Given the description of an element on the screen output the (x, y) to click on. 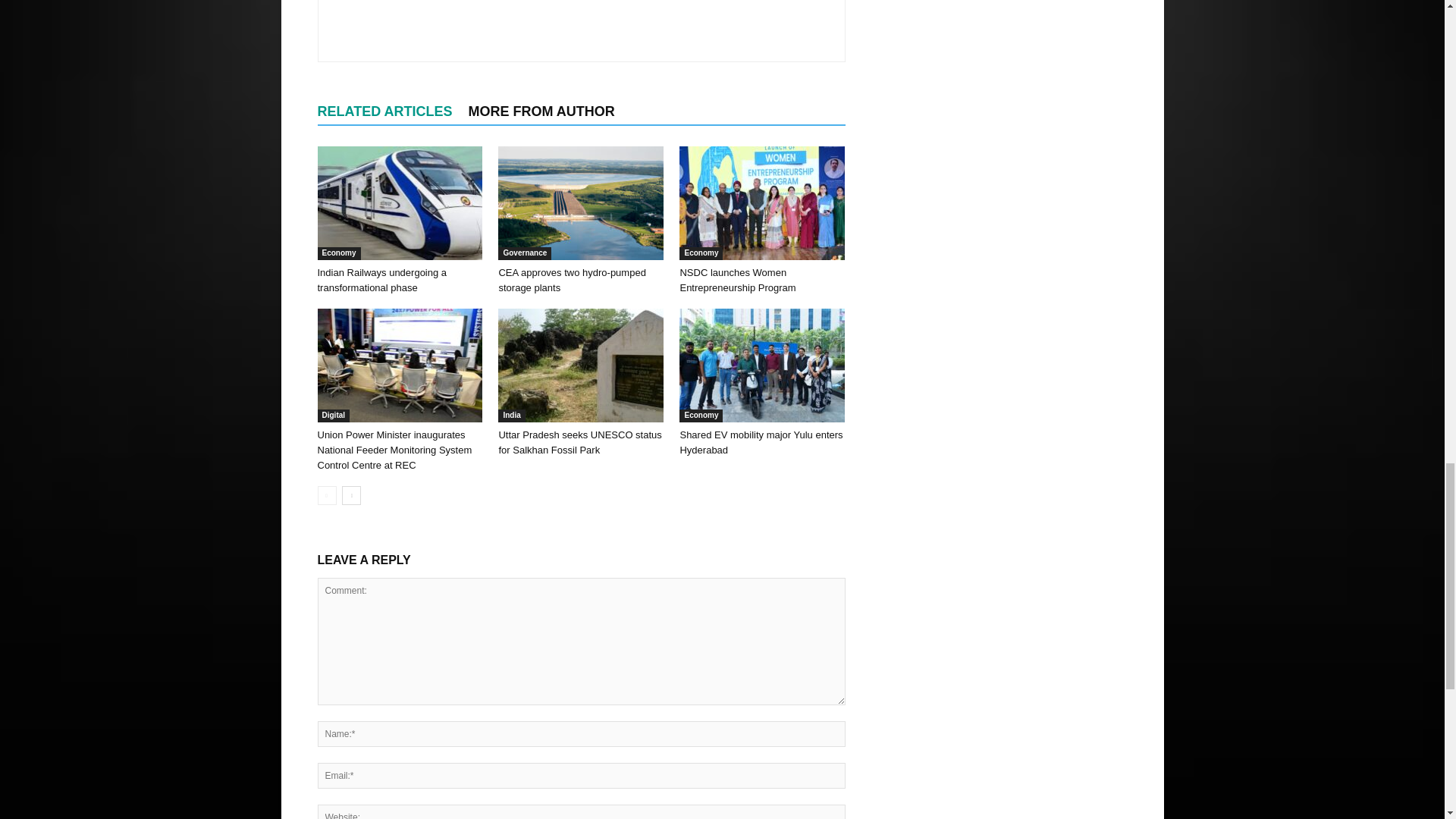
CEA approves two hydro-pumped storage plants (571, 279)
Indian Railways undergoing a transformational phase (381, 279)
Indian Railways undergoing a transformational phase (399, 203)
CEA approves two hydro-pumped storage plants (580, 203)
